Given the description of an element on the screen output the (x, y) to click on. 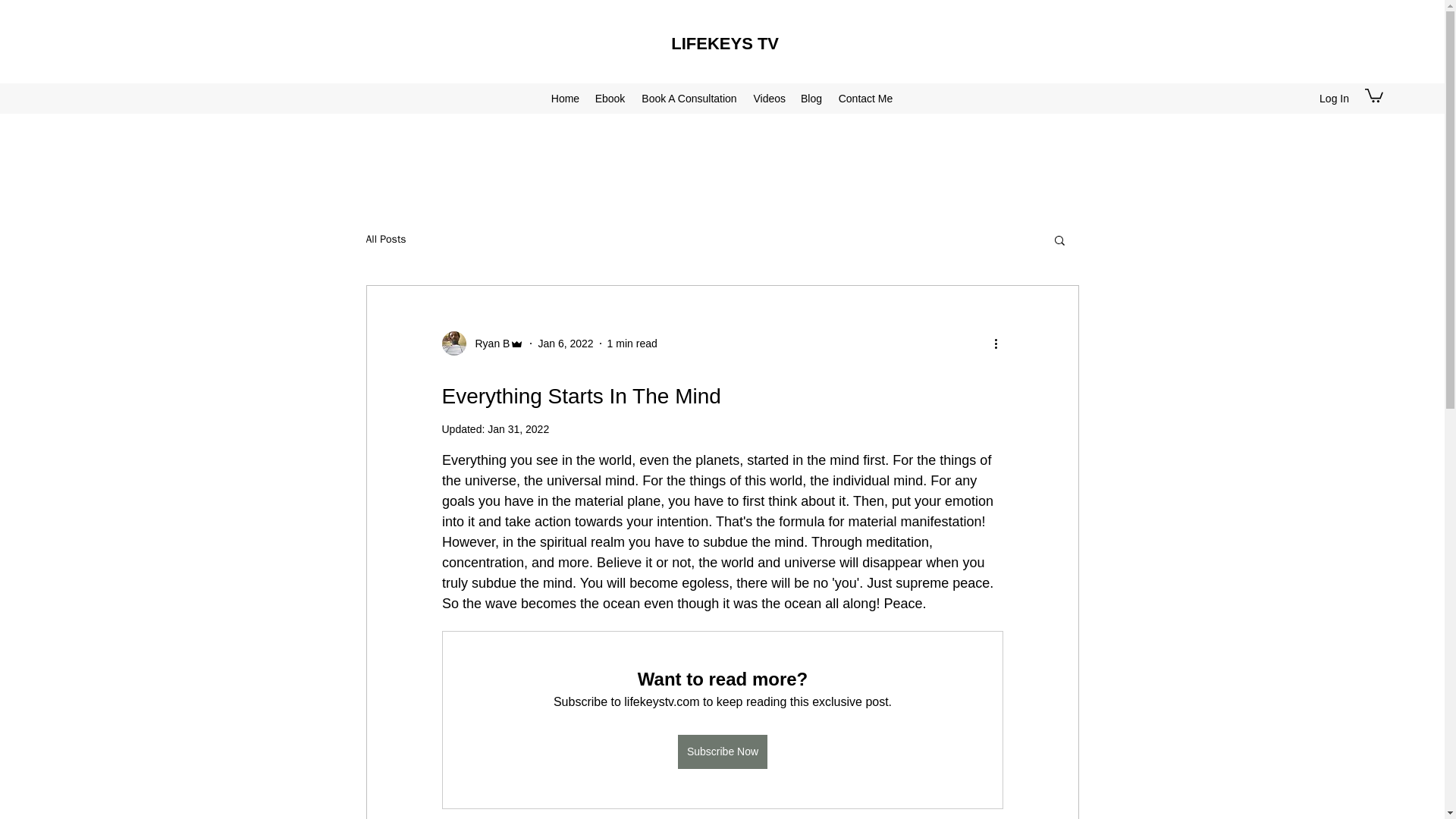
Jan 6, 2022 (564, 343)
LIFEKEYS TV (724, 43)
Ebook (608, 97)
Contact Me (865, 97)
Jan 31, 2022 (517, 428)
All Posts (385, 239)
Subscribe Now (722, 751)
Videos (769, 97)
Ryan B (482, 343)
Book A Consultation (688, 97)
